Given the description of an element on the screen output the (x, y) to click on. 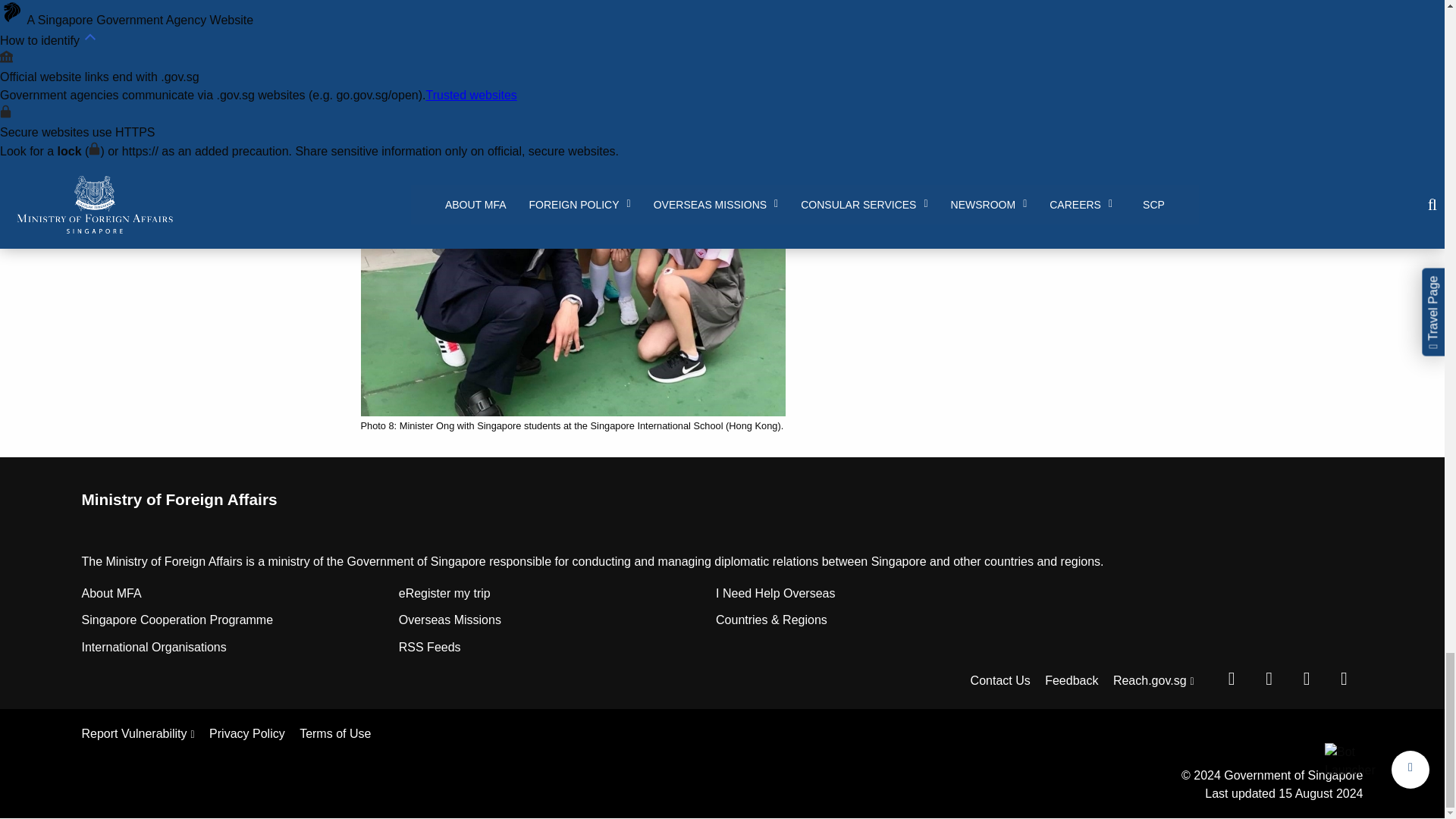
MFA Instagram (1306, 678)
MFA Email (1342, 678)
MFA Twitter (1268, 678)
MFA Facebook (1230, 678)
